Given the description of an element on the screen output the (x, y) to click on. 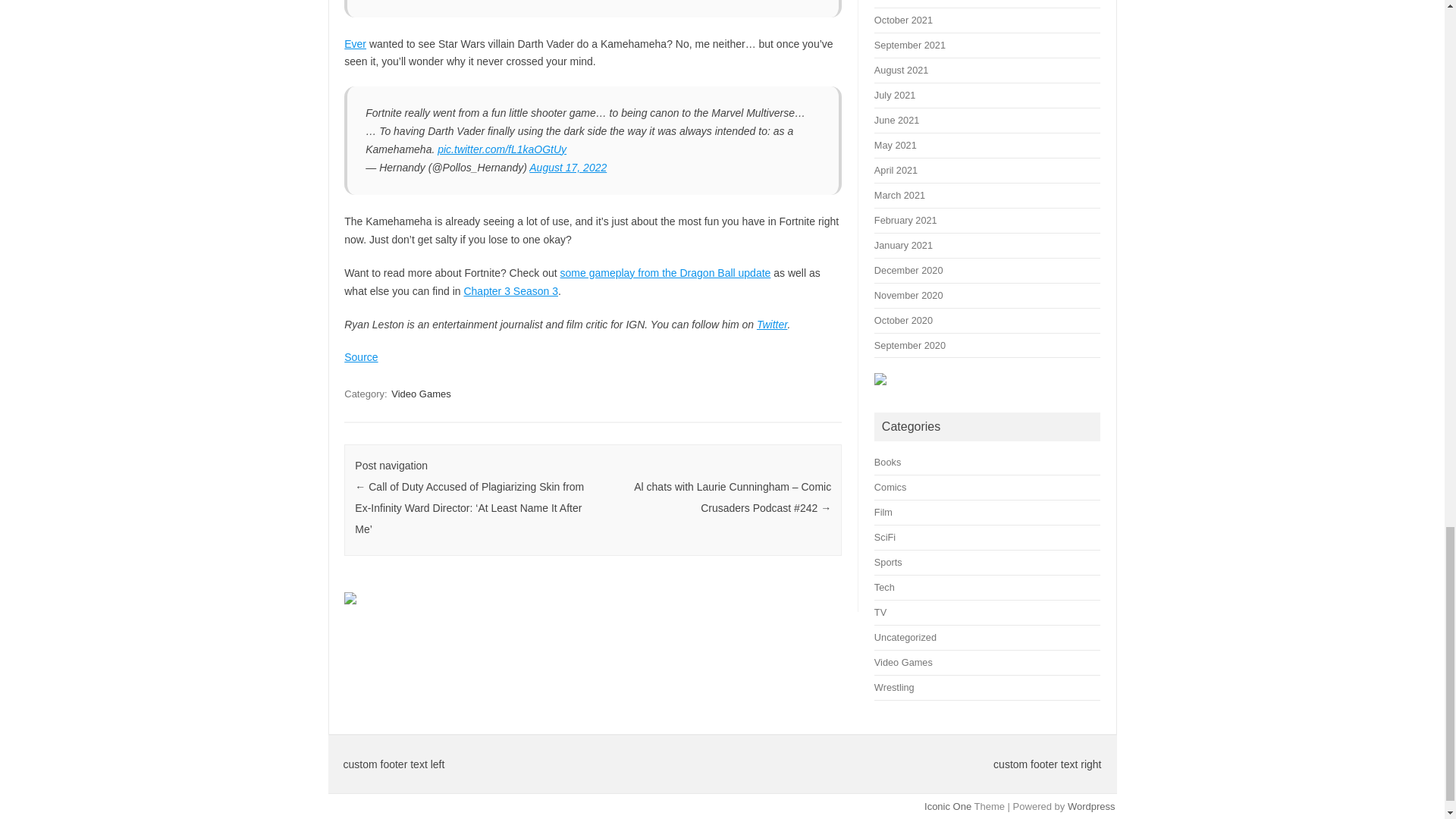
Twitter (772, 324)
some gameplay from the Dragon Ball update (665, 272)
Ever (354, 43)
August 17, 2022 (568, 167)
Source (360, 357)
Chapter 3 Season 3 (510, 291)
Video Games (421, 393)
